Given the description of an element on the screen output the (x, y) to click on. 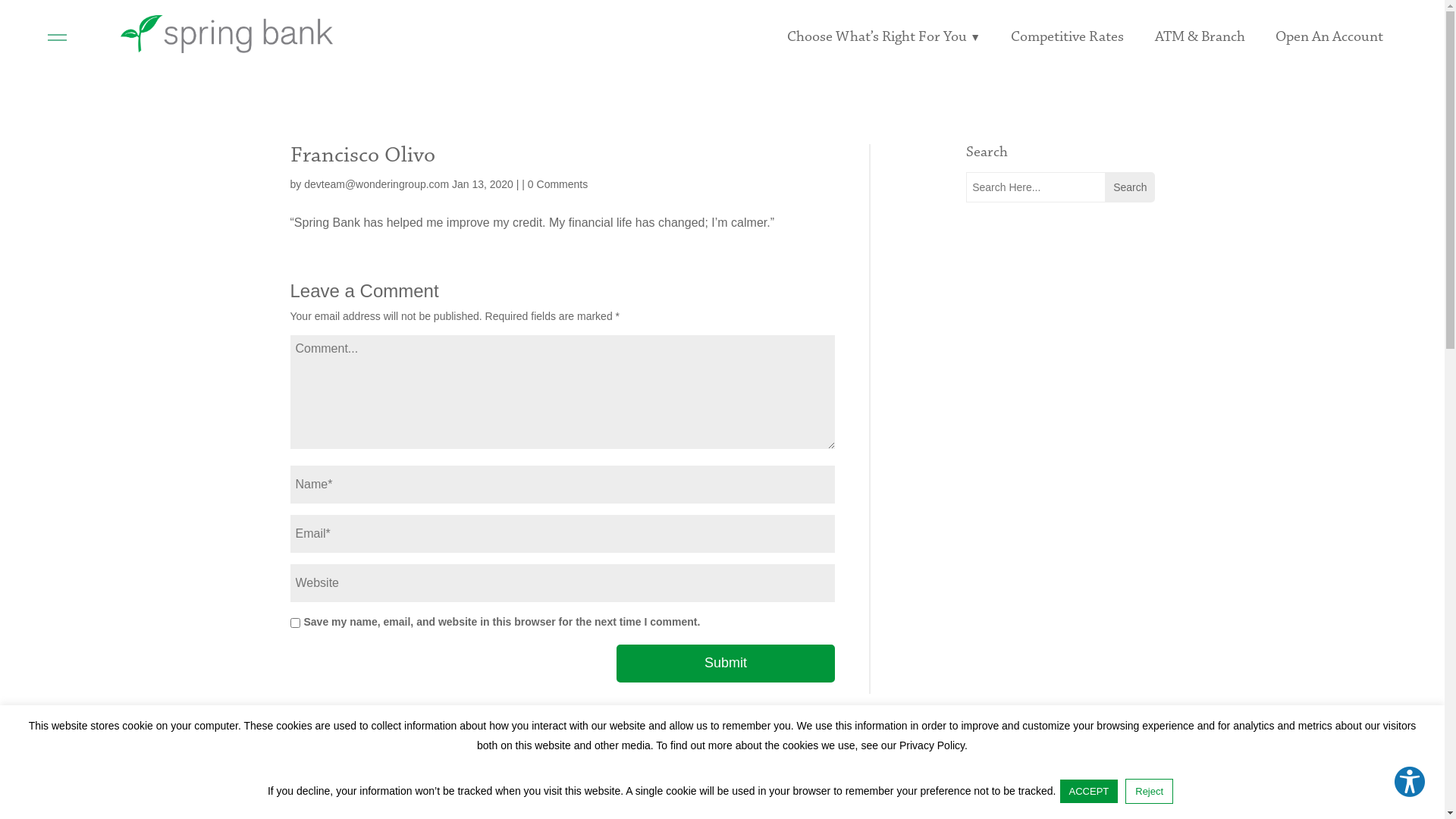
Spring Bank in Bronx, New York Element type: hover (226, 32)
Open An Account Element type: text (1329, 48)
ATM & Branch Element type: text (1199, 48)
Search Element type: text (1129, 187)
ACCEPT Element type: text (1089, 791)
Competitive Rates Element type: text (1066, 48)
devteam@wonderingroup.com Element type: text (376, 184)
Submit Element type: text (725, 663)
Search Here... Element type: hover (1035, 187)
Reject Element type: text (1149, 790)
Search Element type: hover (1129, 187)
